Given the description of an element on the screen output the (x, y) to click on. 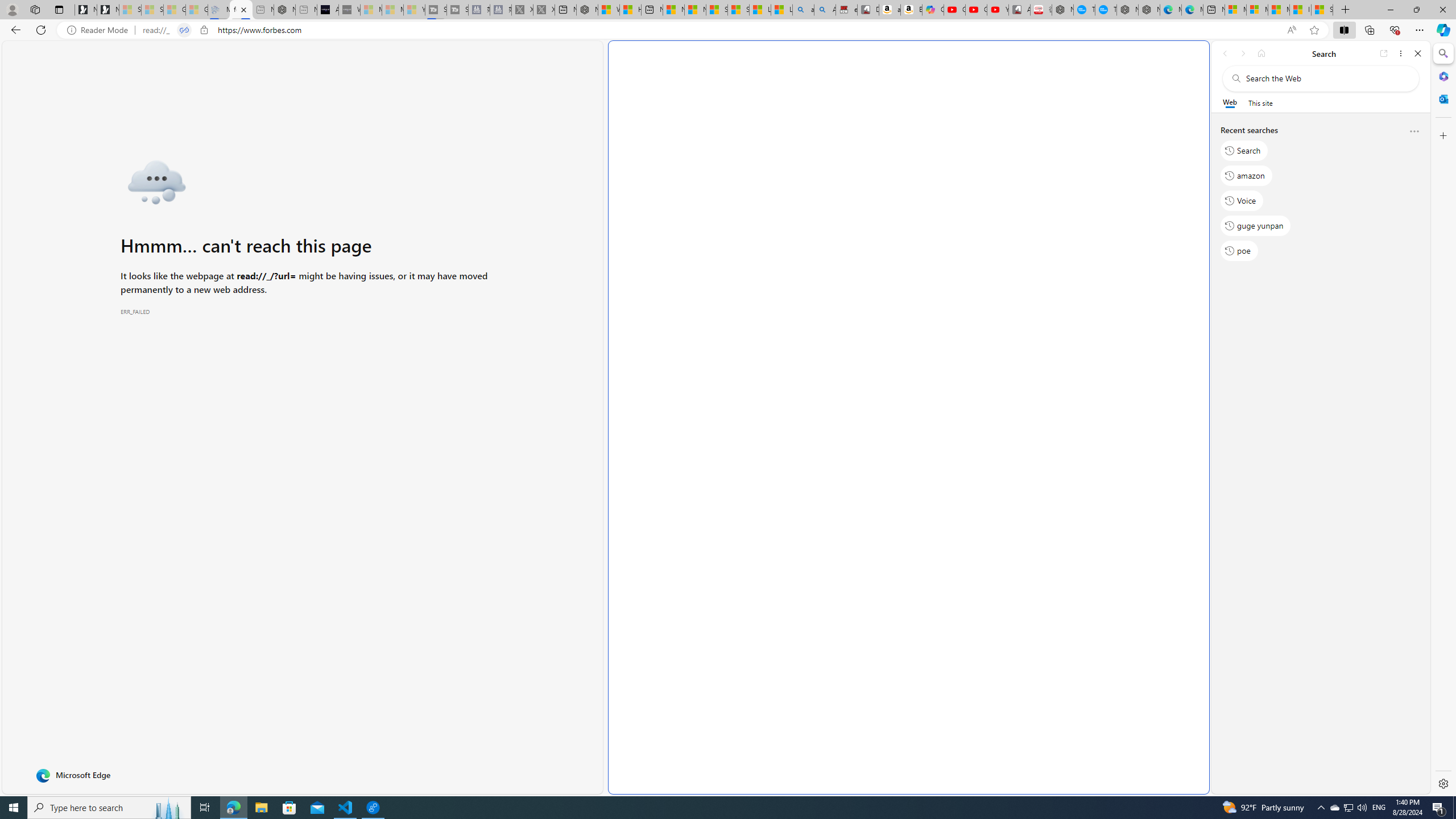
Microsoft Start - Sleeping (392, 9)
Gloom - YouTube (975, 9)
Tabs in split screen (184, 29)
Forward (1242, 53)
